Given the description of an element on the screen output the (x, y) to click on. 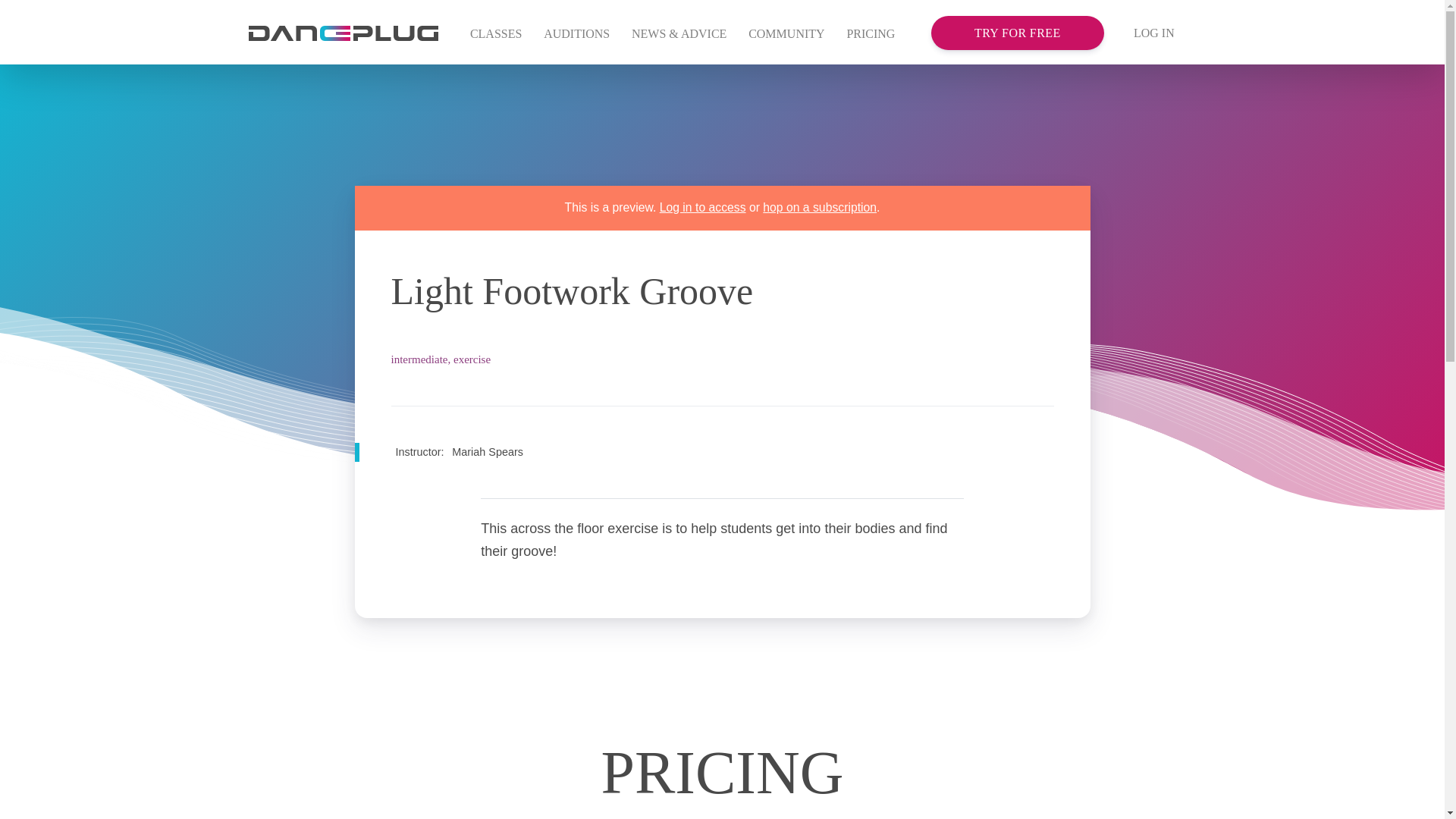
PRICING (870, 34)
TRY FOR FREE (1017, 32)
COMMUNITY (786, 34)
LOG IN (1153, 33)
Share on Facebook (1044, 364)
AUDITIONS (576, 34)
CLASSES (496, 34)
exercise (471, 358)
hop on a subscription. (820, 206)
Share on Twitter (1016, 364)
Share on email (987, 364)
Log in to access (702, 206)
intermediate (419, 358)
